Given the description of an element on the screen output the (x, y) to click on. 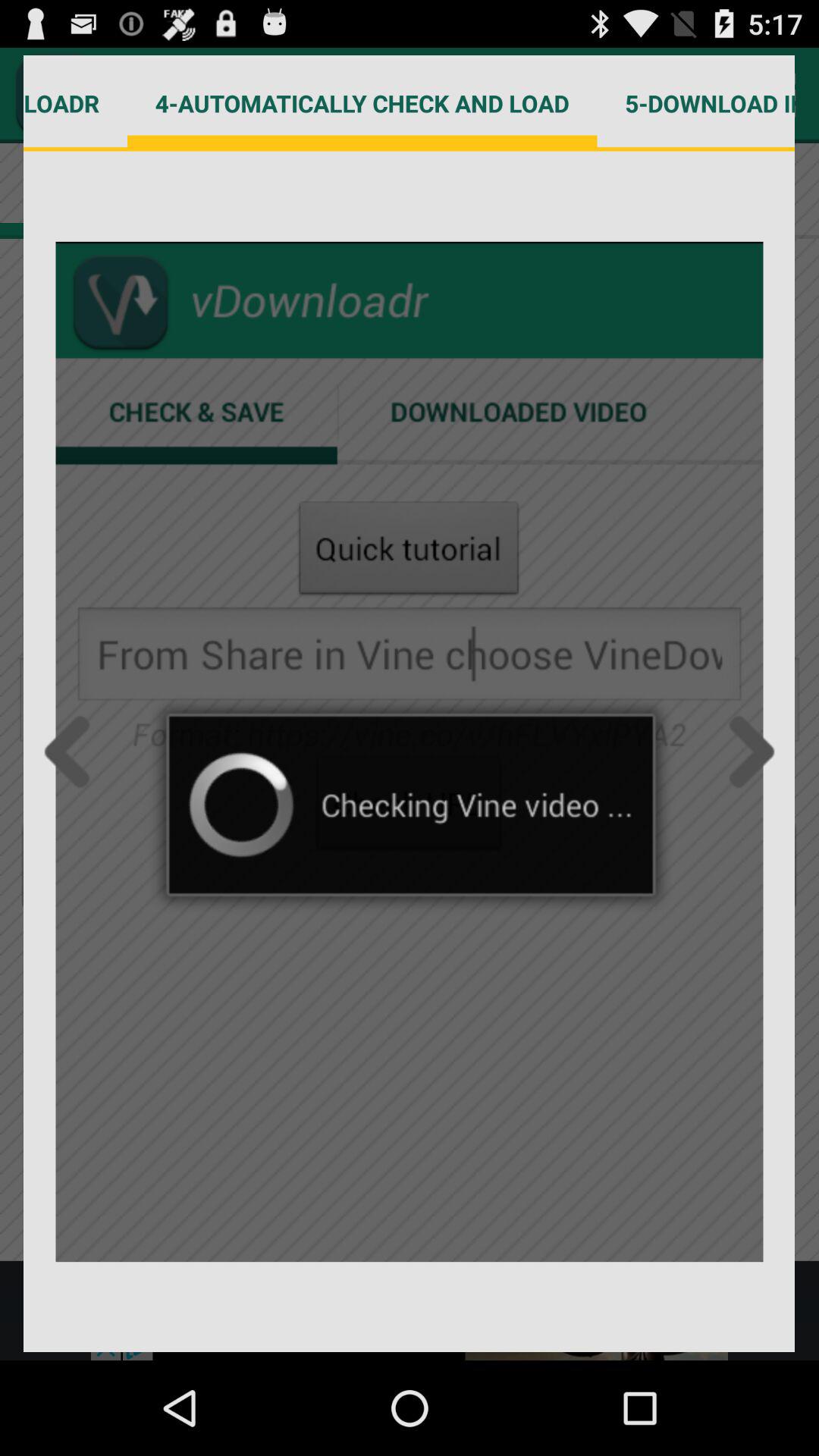
scroll until the 5 download in app (696, 103)
